Given the description of an element on the screen output the (x, y) to click on. 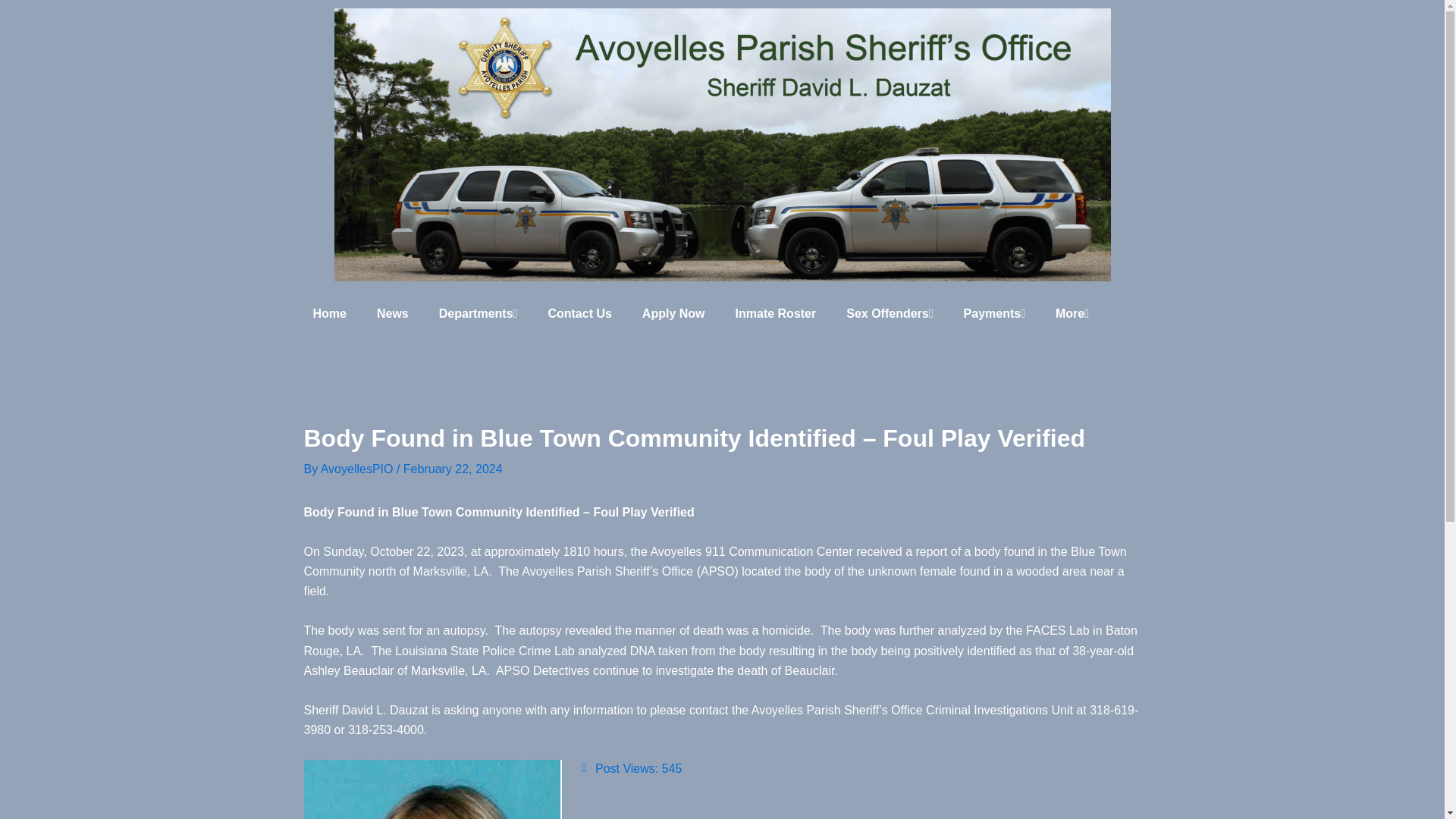
Departments (477, 313)
Contact Us (579, 313)
Home (329, 313)
View all posts by AvoyellesPIO (358, 468)
Inmate Roster (775, 313)
Payments (995, 313)
Ashley Beauclair (431, 789)
News (392, 313)
More (1072, 313)
Apply Now (673, 313)
